Given the description of an element on the screen output the (x, y) to click on. 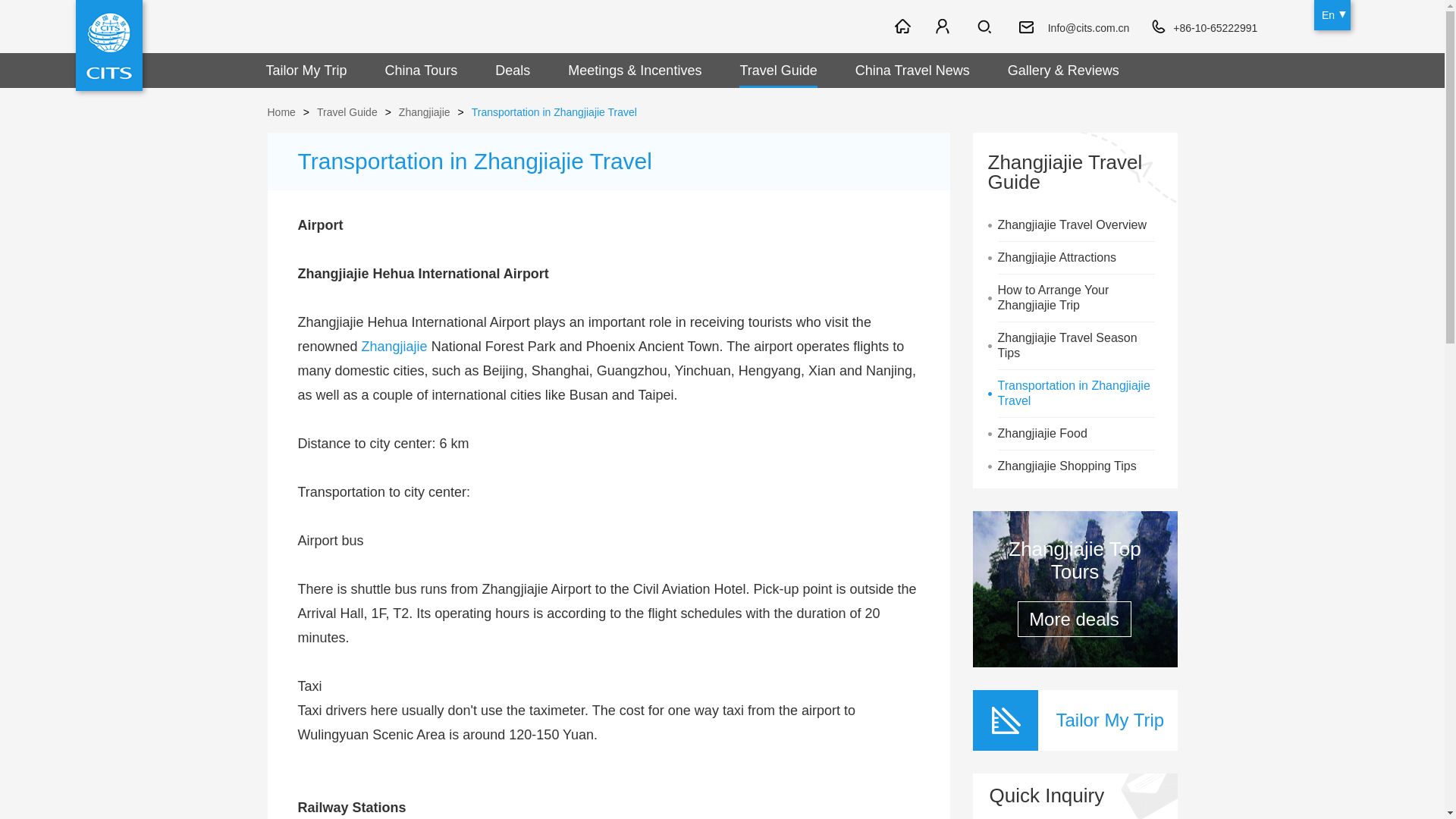
Beijing Tour (876, 25)
Tailor My Trip (306, 70)
En (1332, 15)
Zhangjiajie (394, 346)
China Tours (421, 70)
